Given the description of an element on the screen output the (x, y) to click on. 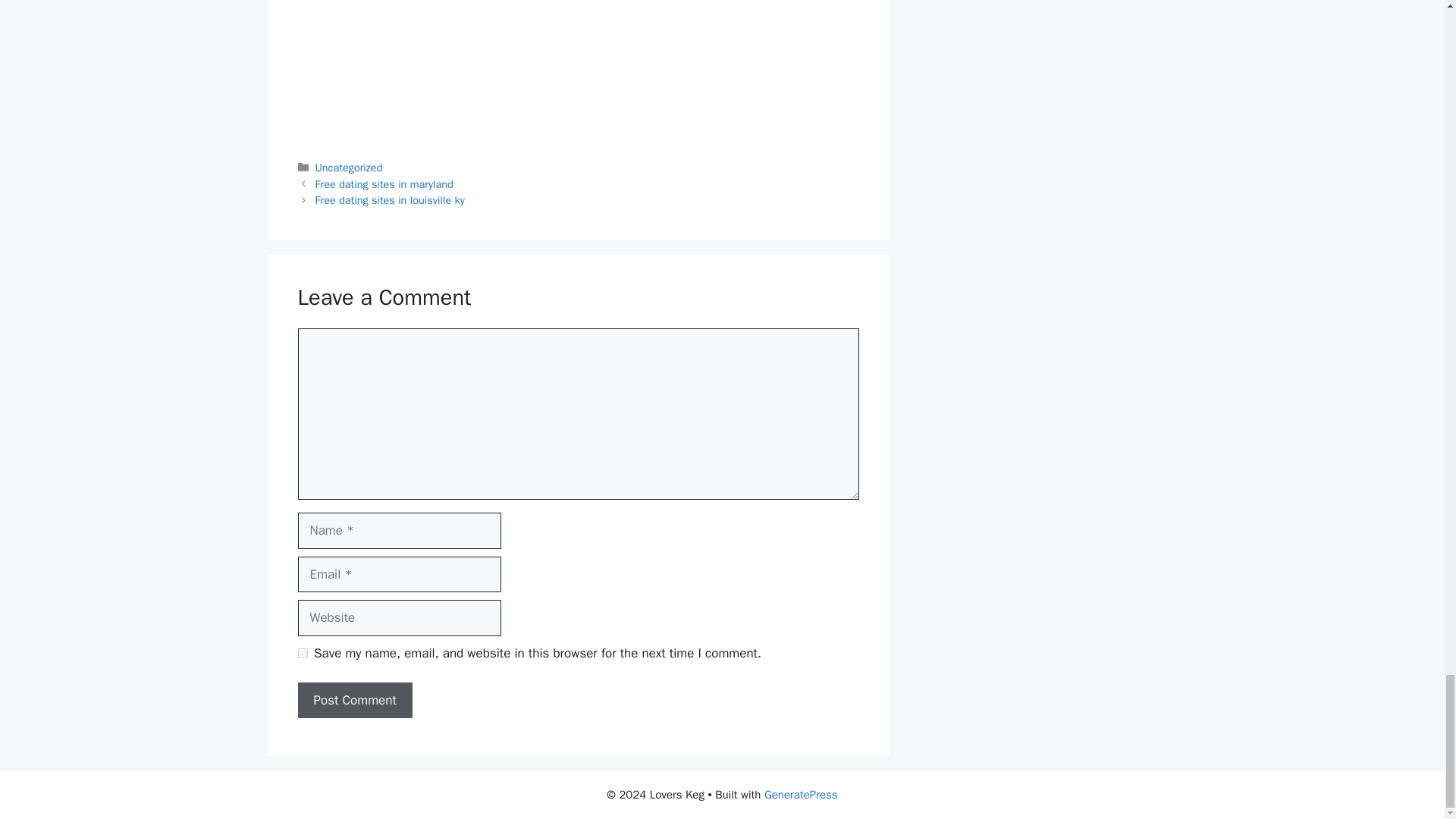
Uncategorized (348, 167)
Post Comment (354, 700)
Free dating sites in louisville ky (389, 200)
Free dating sites in maryland (383, 183)
Post Comment (354, 700)
GeneratePress (801, 794)
yes (302, 653)
